Given the description of an element on the screen output the (x, y) to click on. 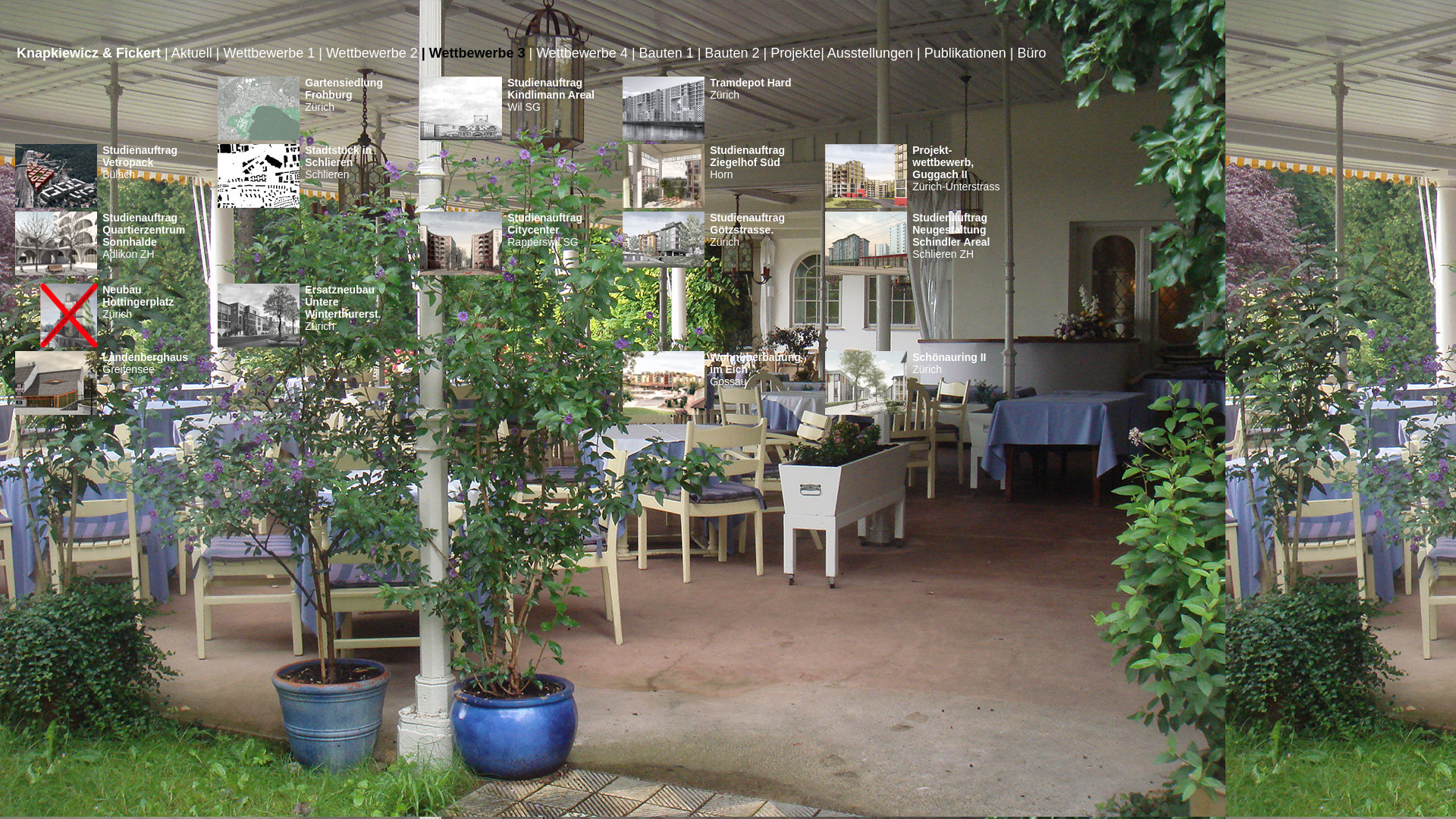
| Wettbewerbe 4 Element type: text (577, 52)
| Bauten 1 Element type: text (662, 52)
| Ausstellungen Element type: text (866, 52)
| Bauten 2 Element type: text (728, 52)
| Projekte Element type: text (791, 52)
| Aktuell Element type: text (188, 52)
| Wettbewerbe 3 Element type: text (473, 52)
| Publikationen Element type: text (961, 52)
| Wettbewerbe 2 Element type: text (367, 52)
| Wettbewerbe 1 Element type: text (265, 52)
Knapkiewicz & Fickert Element type: text (88, 52)
